Given the description of an element on the screen output the (x, y) to click on. 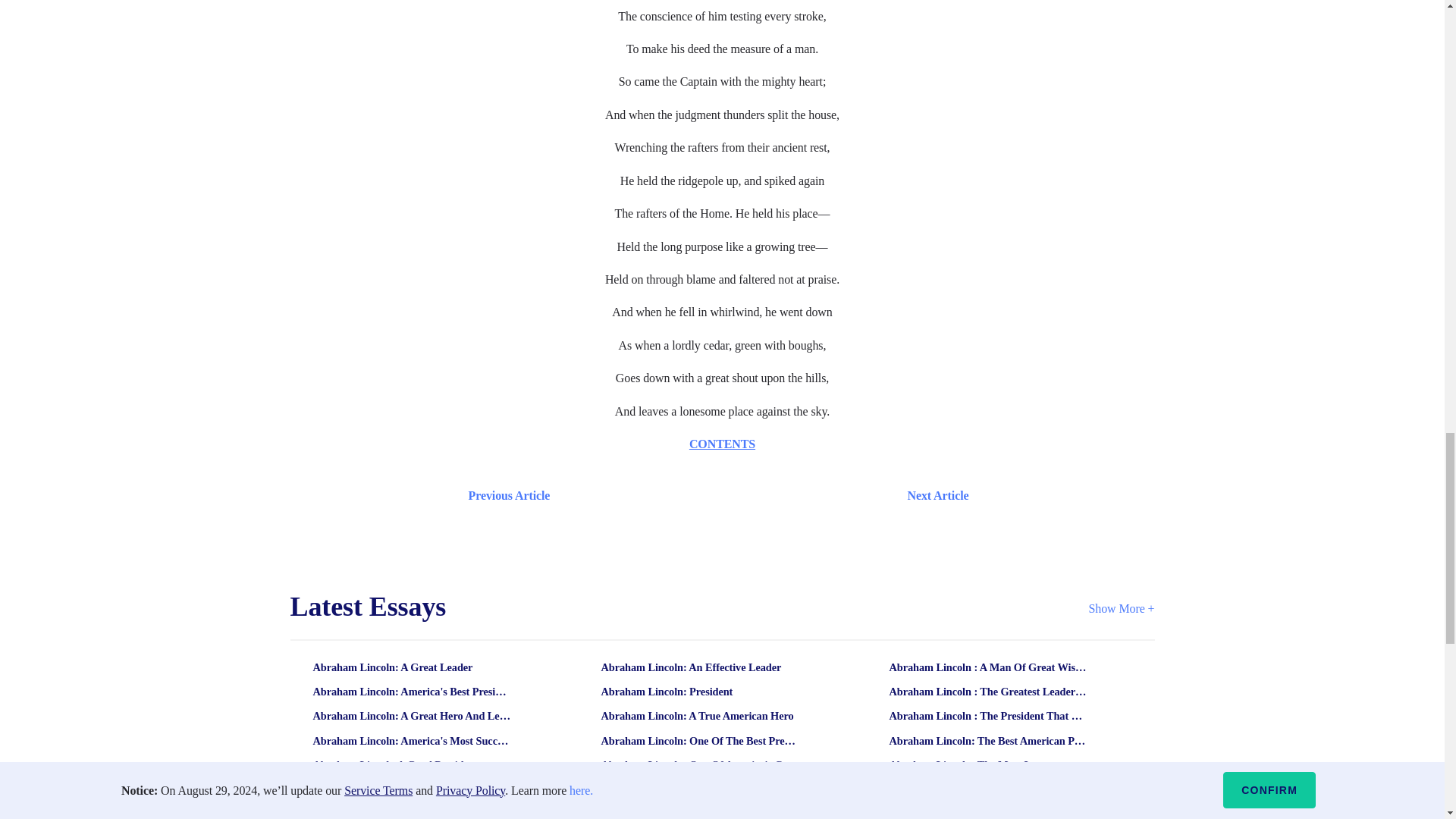
Abraham Lincoln: A Great Leader (411, 667)
Abraham Lincoln: One Of America's Greatest President (699, 764)
Abraham Lincoln: A Great Hero And Leader (411, 715)
Abraham Lincoln: America's Best President (411, 692)
Abraham Lincoln : The Greatest Leaders Of All Time (988, 692)
Abraham Lincoln: A True American Hero (699, 715)
Abraham Lincoln : A Man Of Great Wisdom And Determination (988, 667)
Next Article (766, 495)
